Given the description of an element on the screen output the (x, y) to click on. 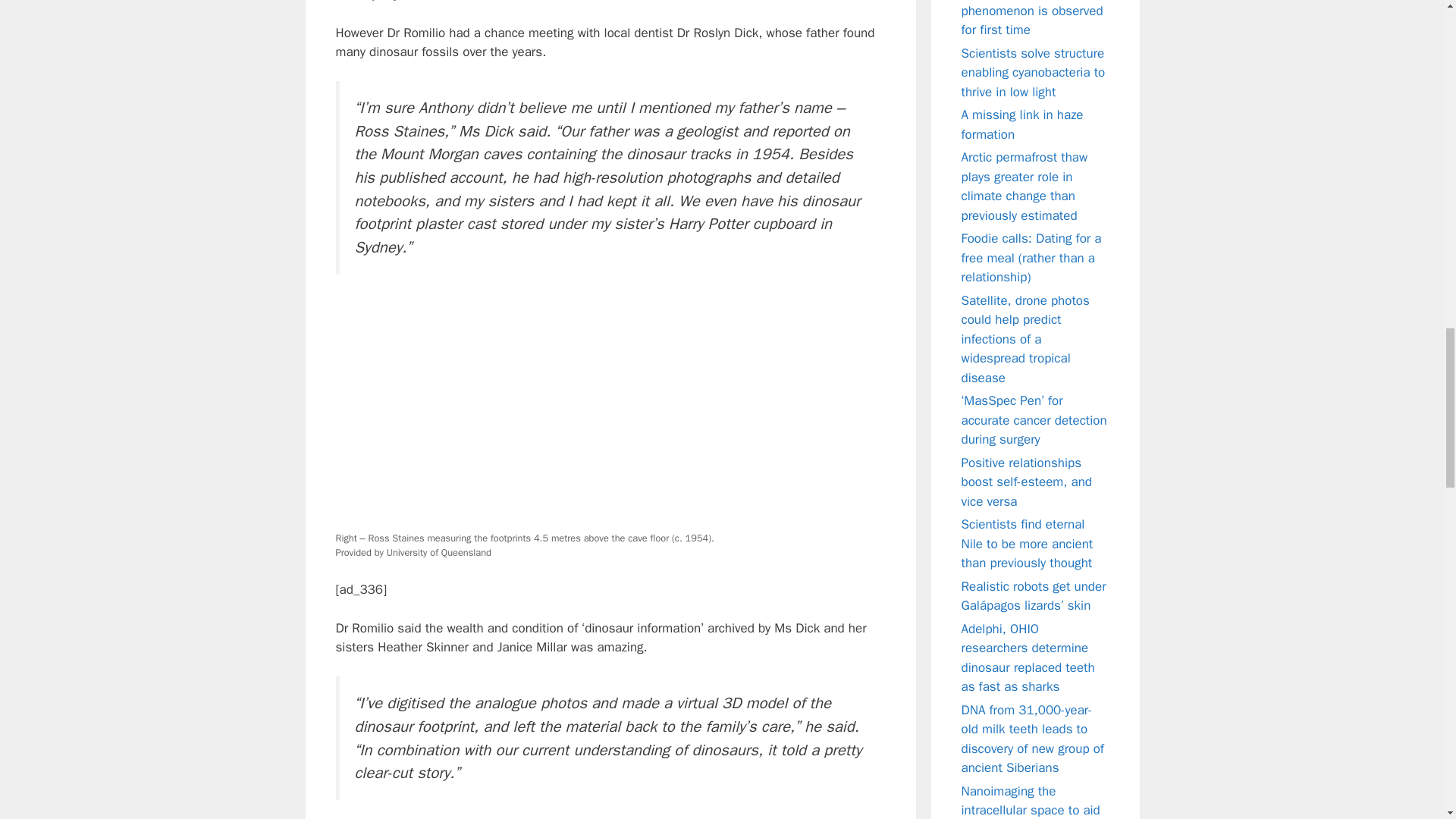
Exotic physics phenomenon is observed for first time (1031, 18)
